Given the description of an element on the screen output the (x, y) to click on. 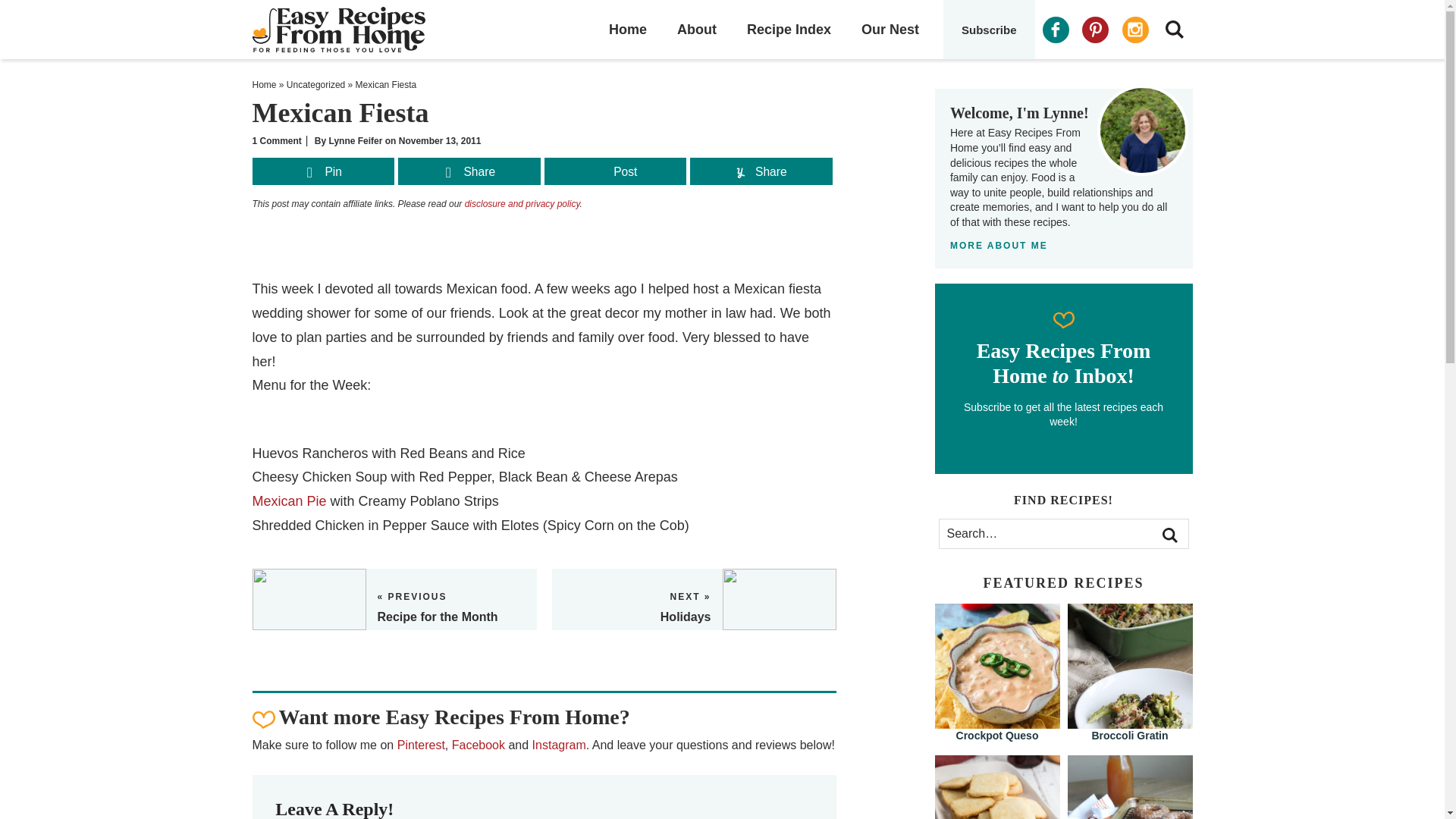
Home (263, 84)
Uncategorized (315, 84)
Search for (1063, 533)
disclosure and privacy policy (521, 204)
Lynne Feifer (355, 140)
Share (469, 172)
Mexican Pie (288, 500)
Our Nest (889, 29)
Post (614, 172)
SEARCH (1173, 29)
